Given the description of an element on the screen output the (x, y) to click on. 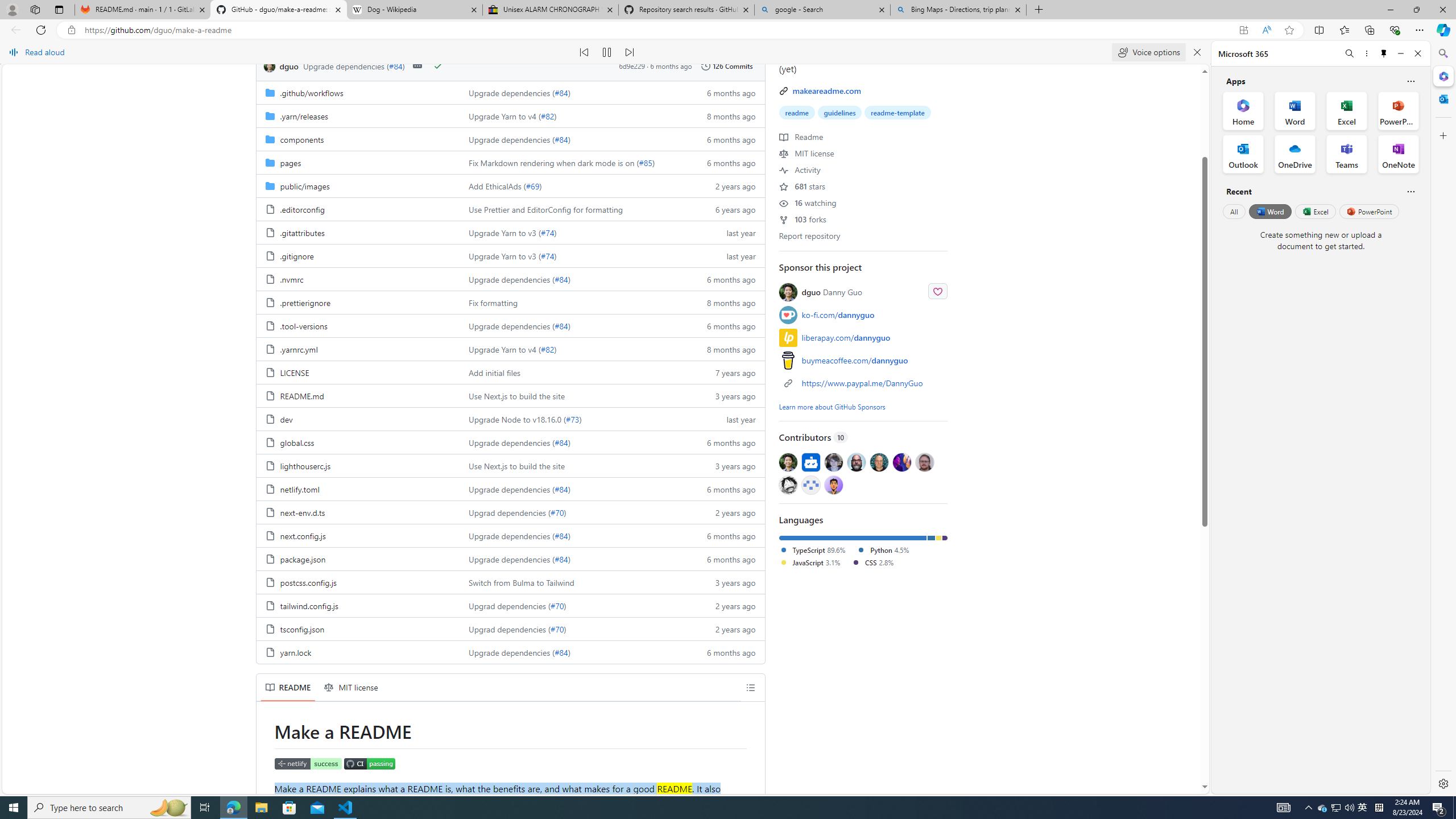
Fix formatting (493, 301)
Fix Markdown rendering when dark mode is on (#85) (573, 161)
AutomationID: folder-row-0 (510, 92)
@sy-records (787, 484)
Upgrade Node to v18.16.0 ( (517, 419)
https://www.paypal.me/DannyGuo (861, 383)
CSS2.8% (876, 562)
Fix formatting (573, 301)
buymeacoffee.com/dannyguo (862, 359)
Use Prettier and EditorConfig for formatting (545, 208)
README.md, (File) (358, 395)
netlify.toml, (File) (358, 488)
